Given the description of an element on the screen output the (x, y) to click on. 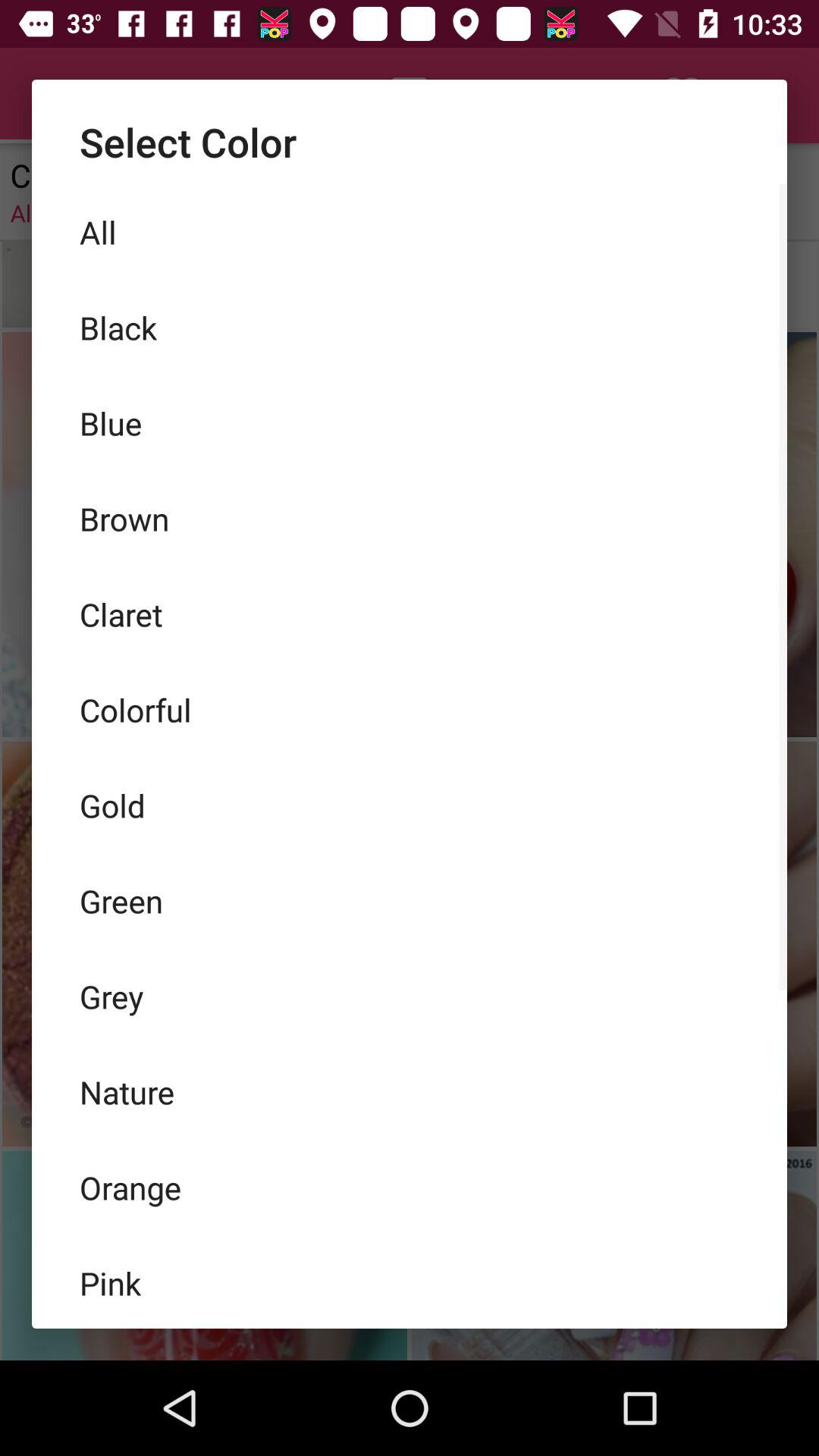
jump to black (409, 327)
